Given the description of an element on the screen output the (x, y) to click on. 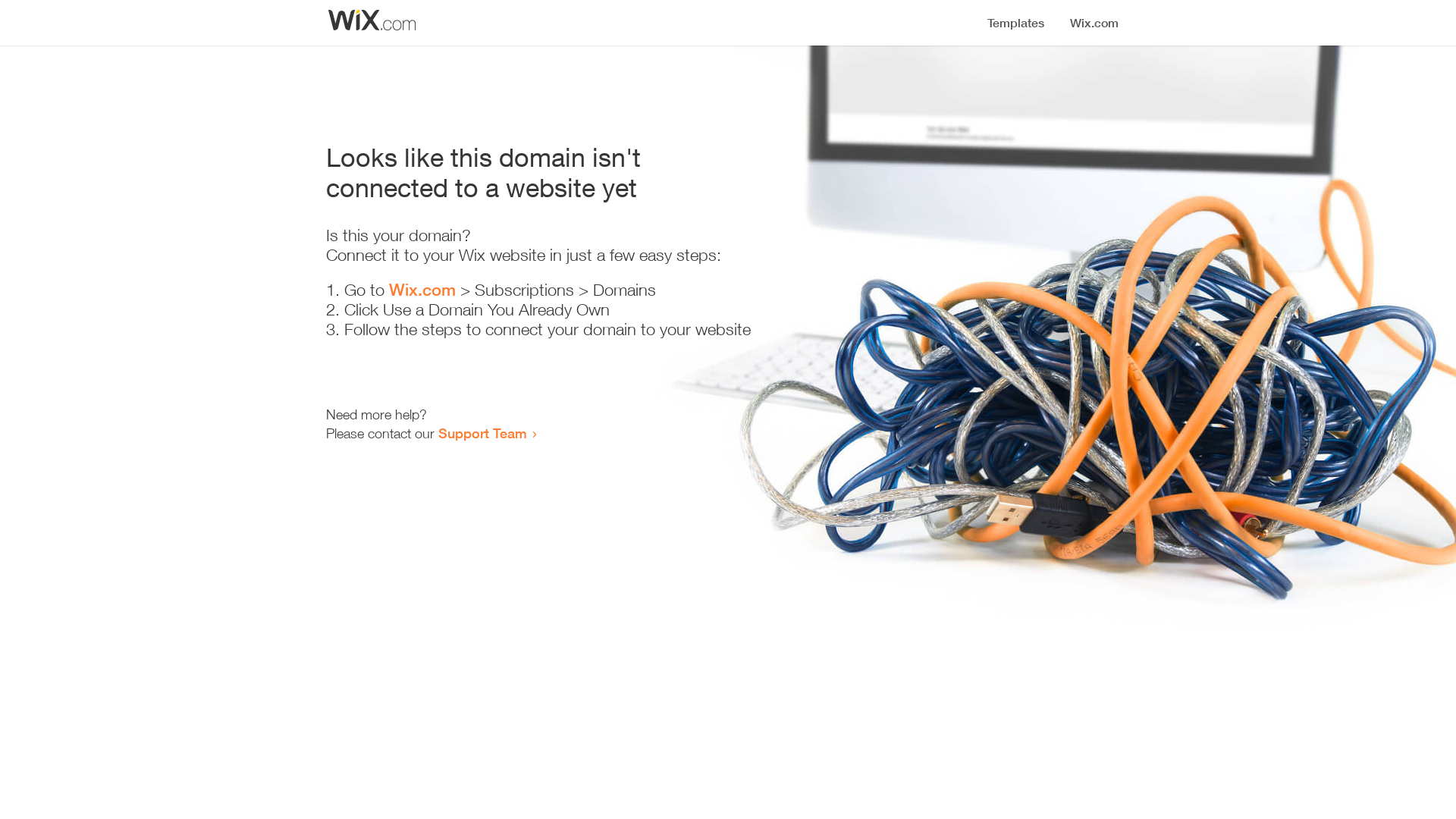
Wix.com Element type: text (422, 289)
Support Team Element type: text (482, 432)
